Given the description of an element on the screen output the (x, y) to click on. 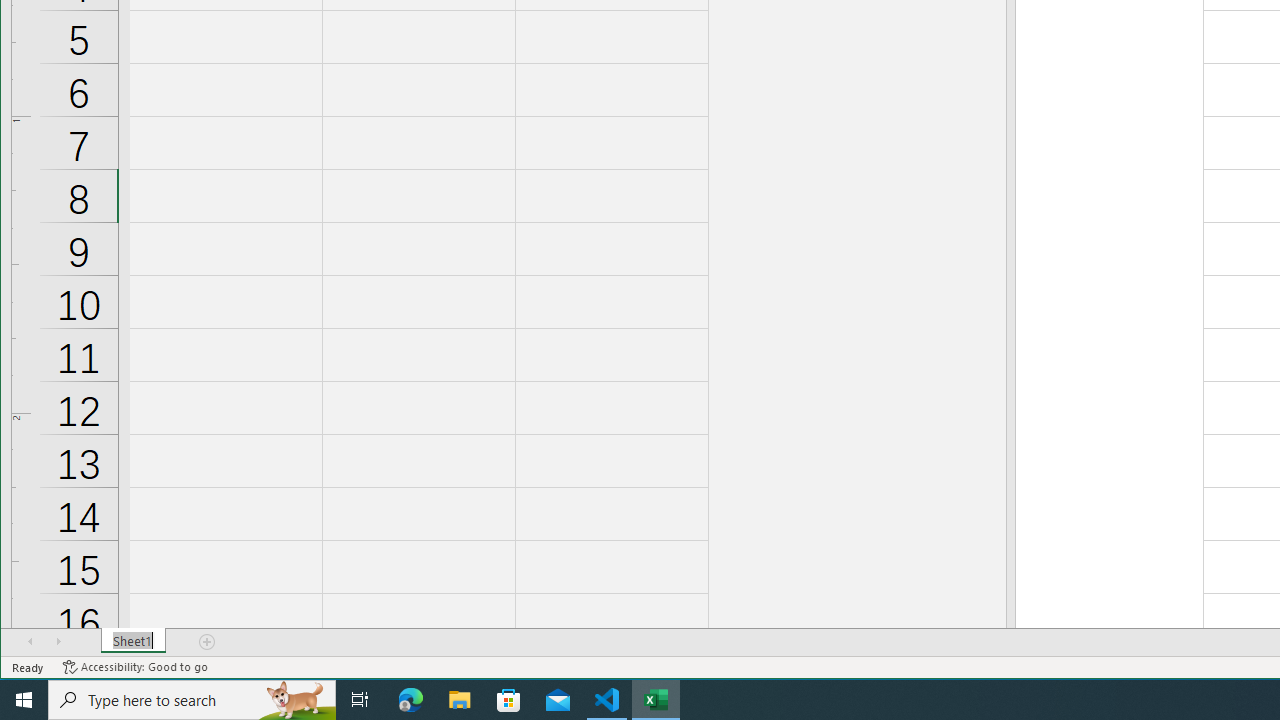
Start (24, 699)
